Given the description of an element on the screen output the (x, y) to click on. 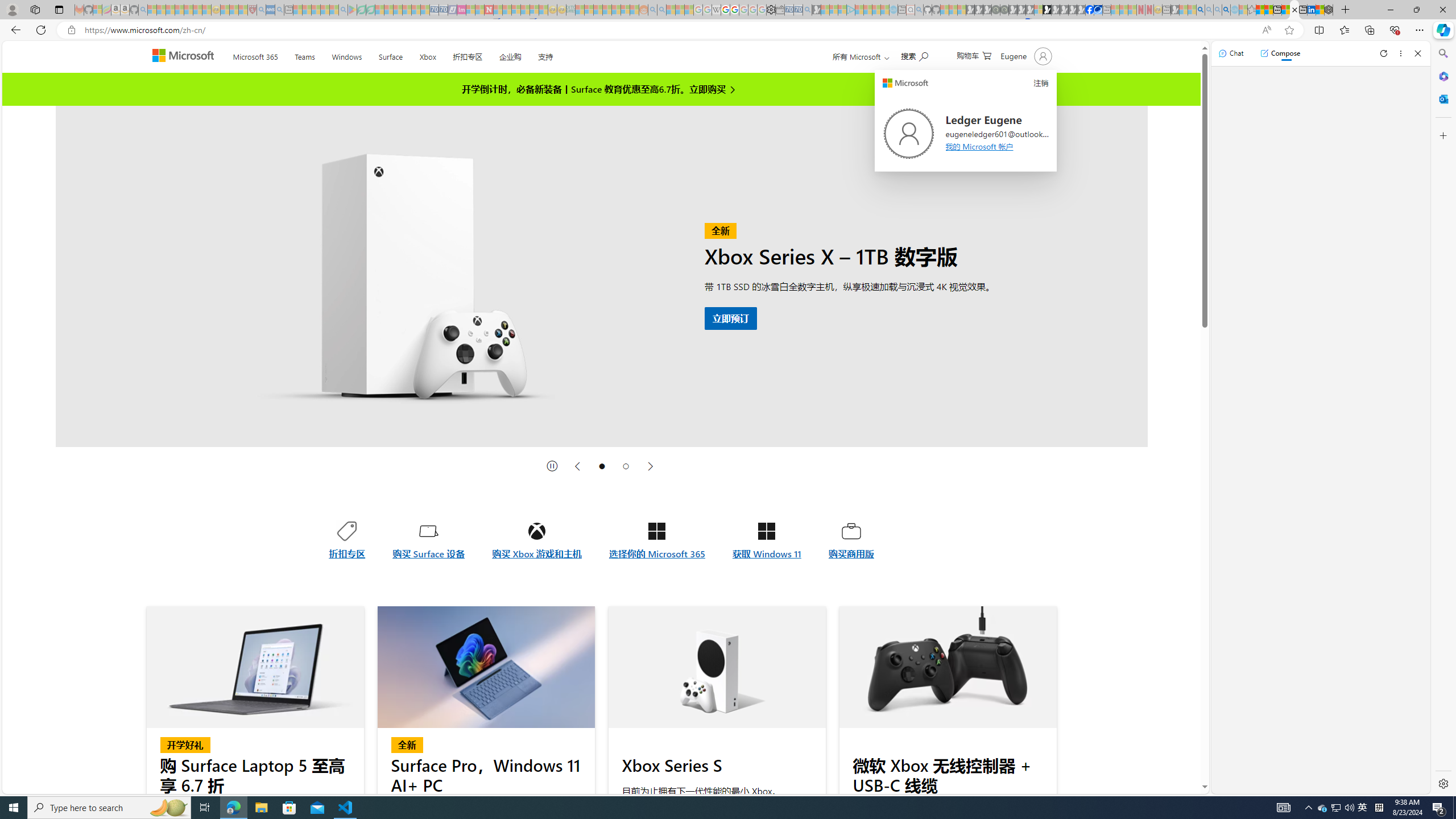
Trusted Community Engagement and Contributions | Guidelines (497, 9)
Target page - Wikipedia - Sleeping (716, 9)
Kinda Frugal - MSN - Sleeping (616, 9)
Tab actions menu (58, 9)
App bar (728, 29)
Copilot (Ctrl+Shift+.) (1442, 29)
Windows (346, 54)
More options (1401, 53)
